Given the description of an element on the screen output the (x, y) to click on. 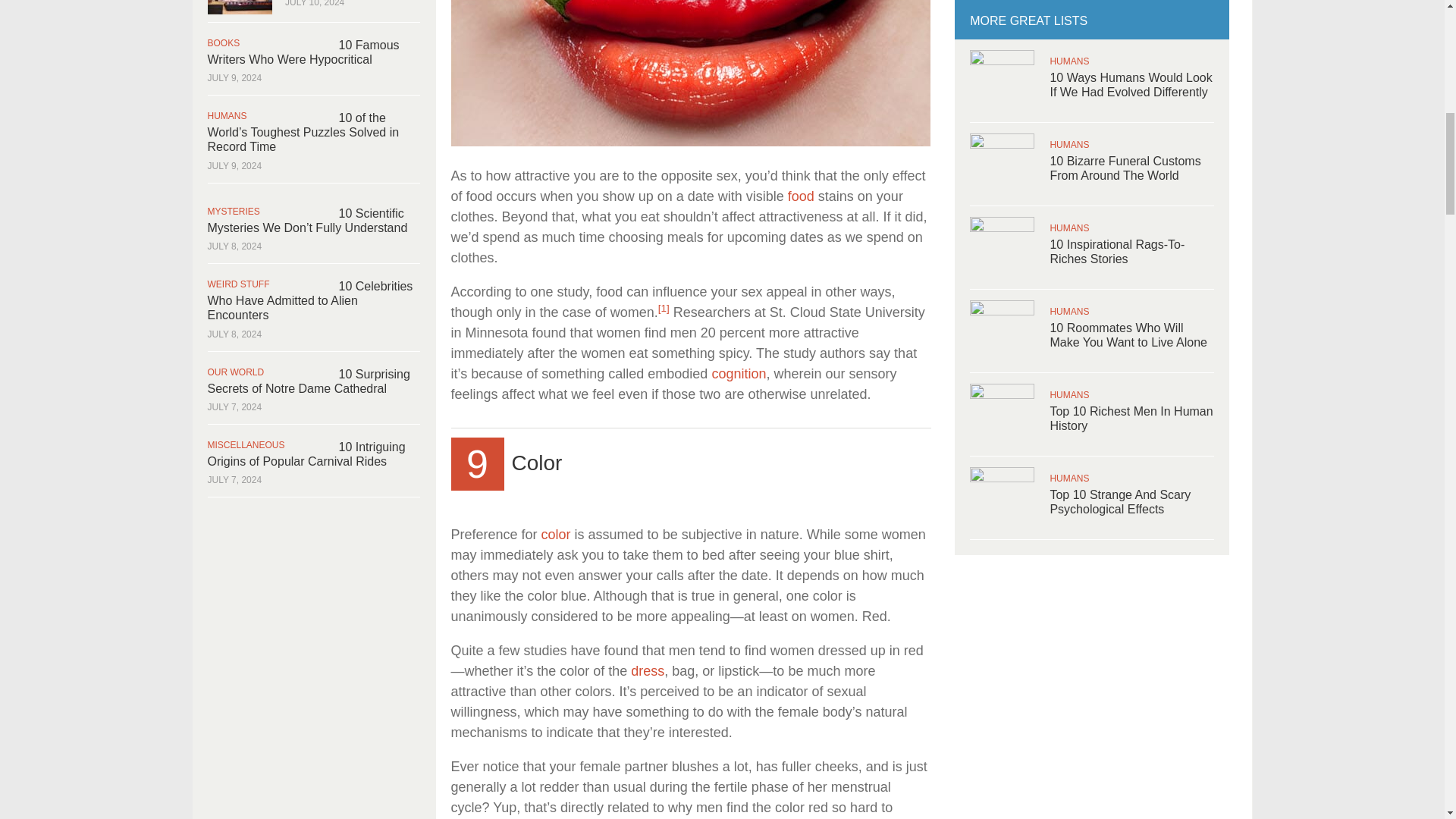
10 Controversial Debates About Food And Cooking (800, 196)
Top 10 Common Faults In Human Thought (738, 373)
